Given the description of an element on the screen output the (x, y) to click on. 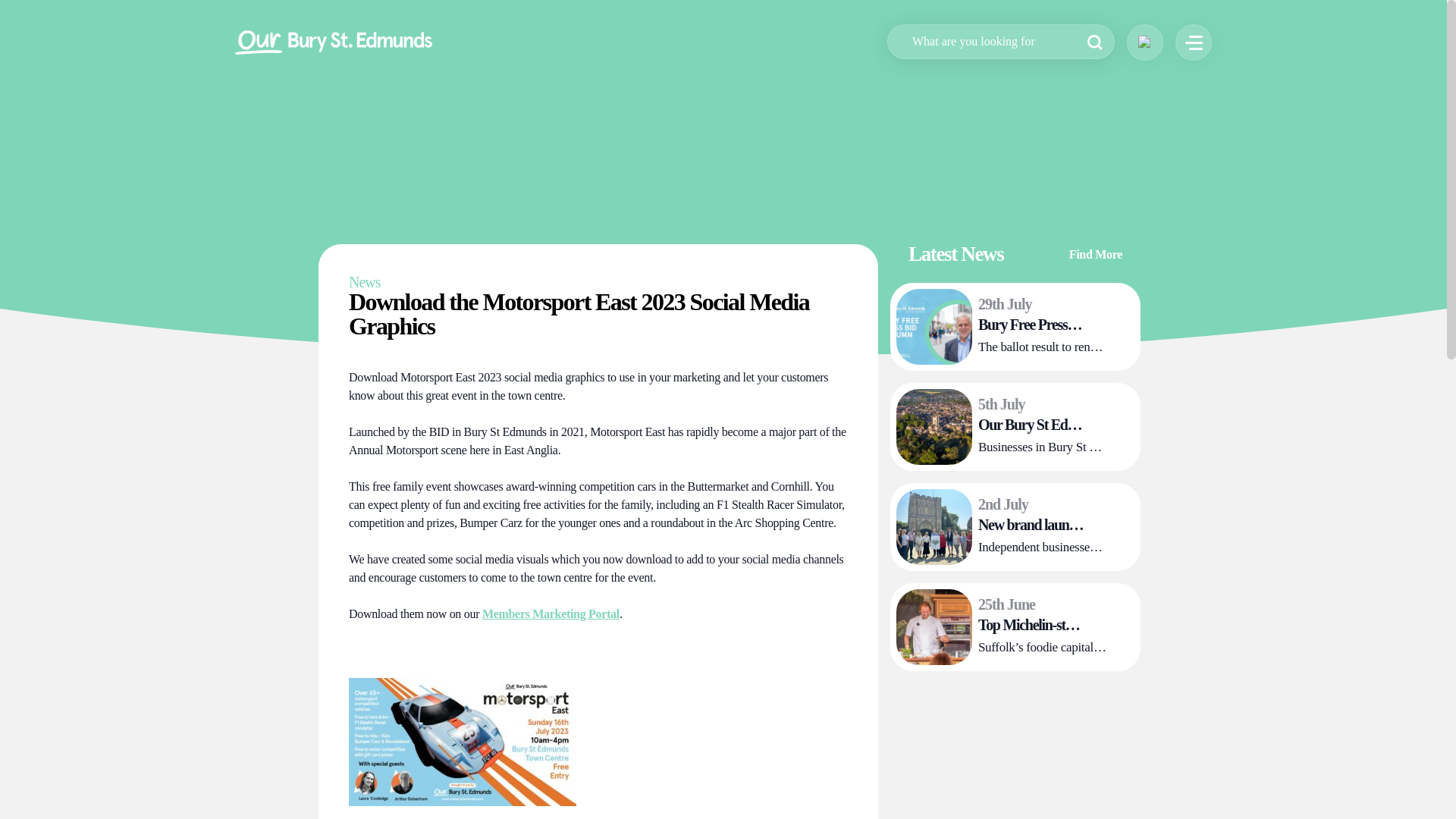
Find More (1104, 262)
Members Marketing Portal (550, 613)
